Given the description of an element on the screen output the (x, y) to click on. 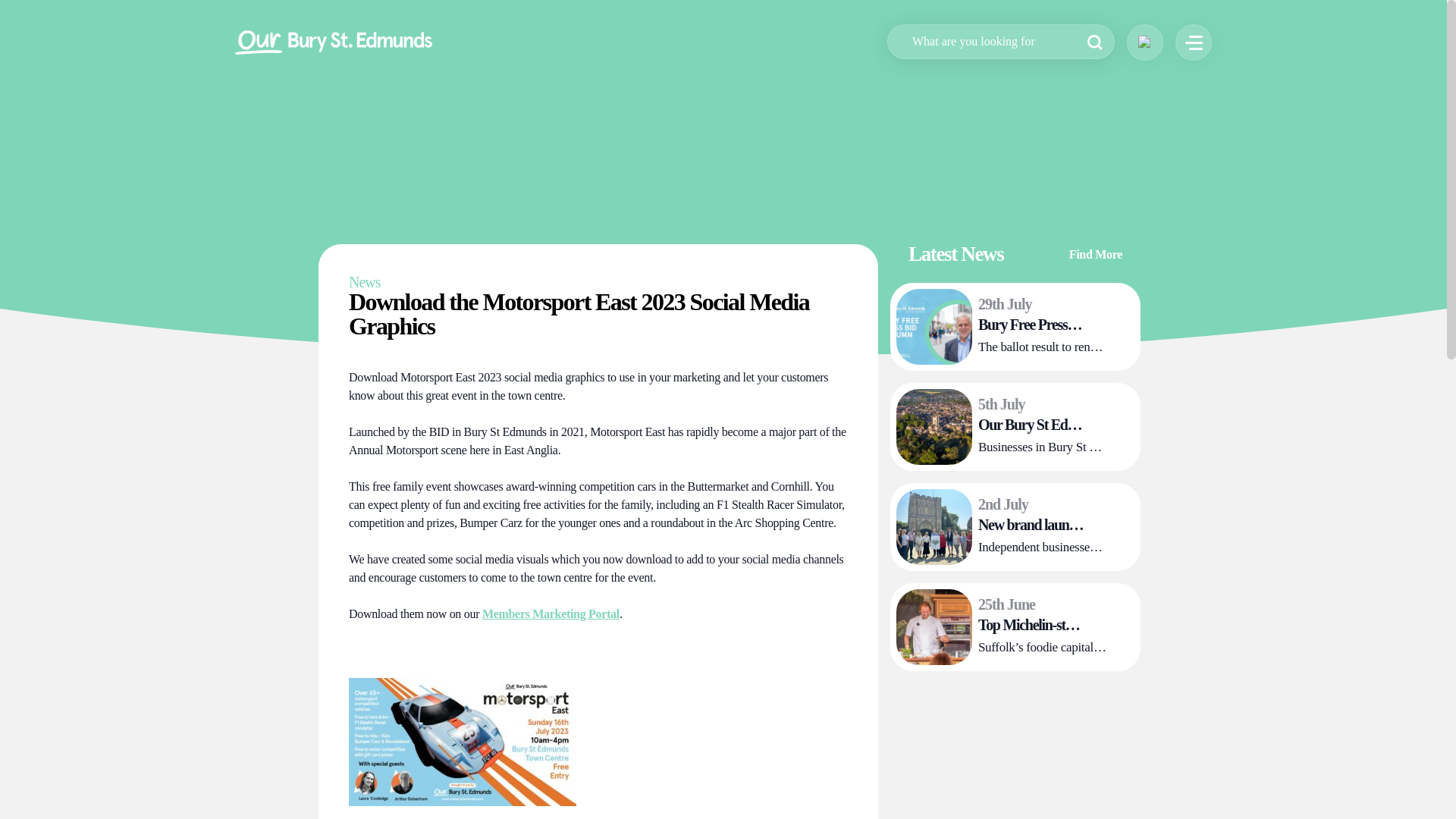
Find More (1104, 262)
Members Marketing Portal (550, 613)
